Given the description of an element on the screen output the (x, y) to click on. 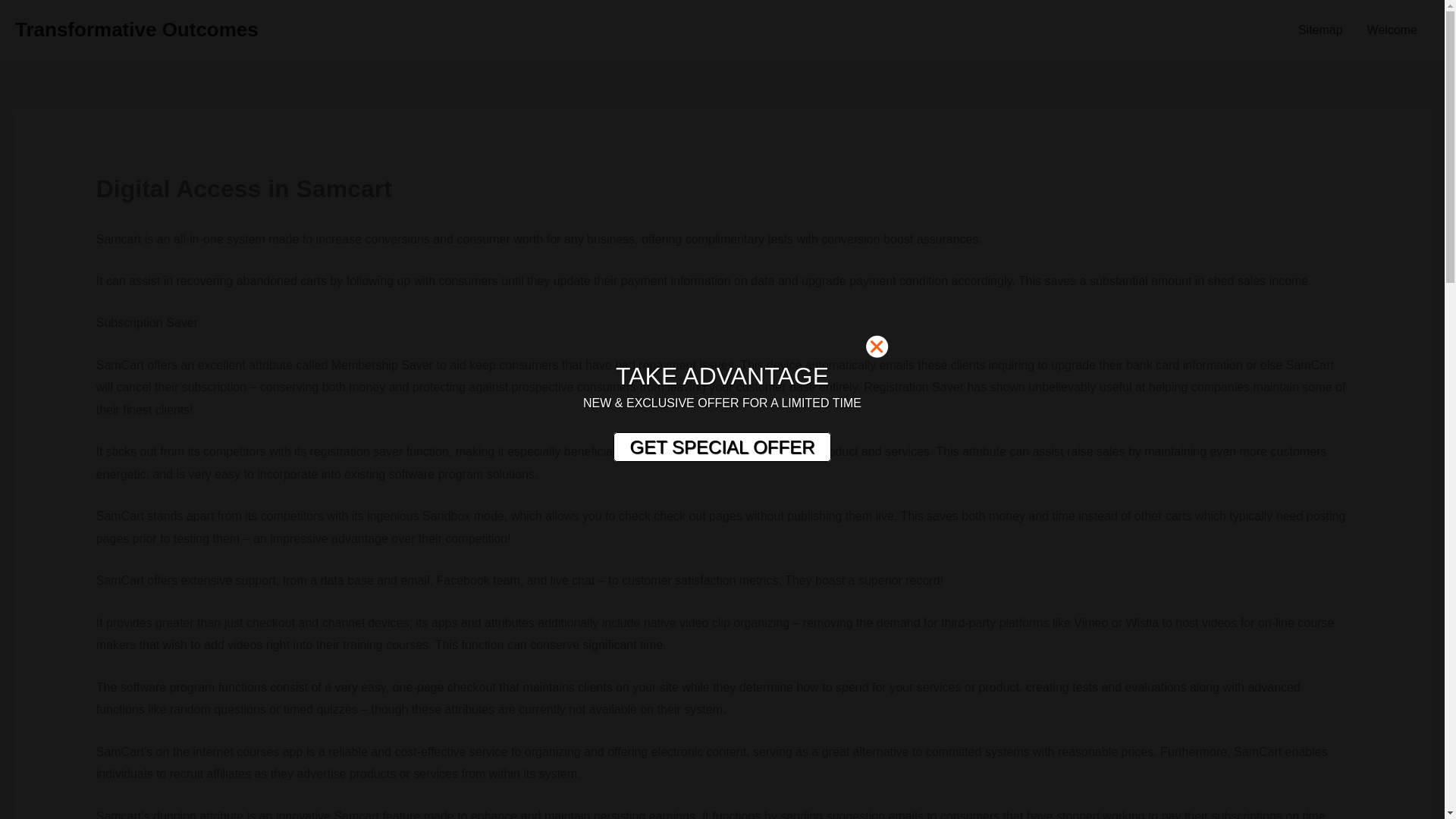
Sitemap (1320, 30)
Transformative Outcomes (136, 29)
Welcome (1392, 30)
GET SPECIAL OFFER (720, 446)
